Given the description of an element on the screen output the (x, y) to click on. 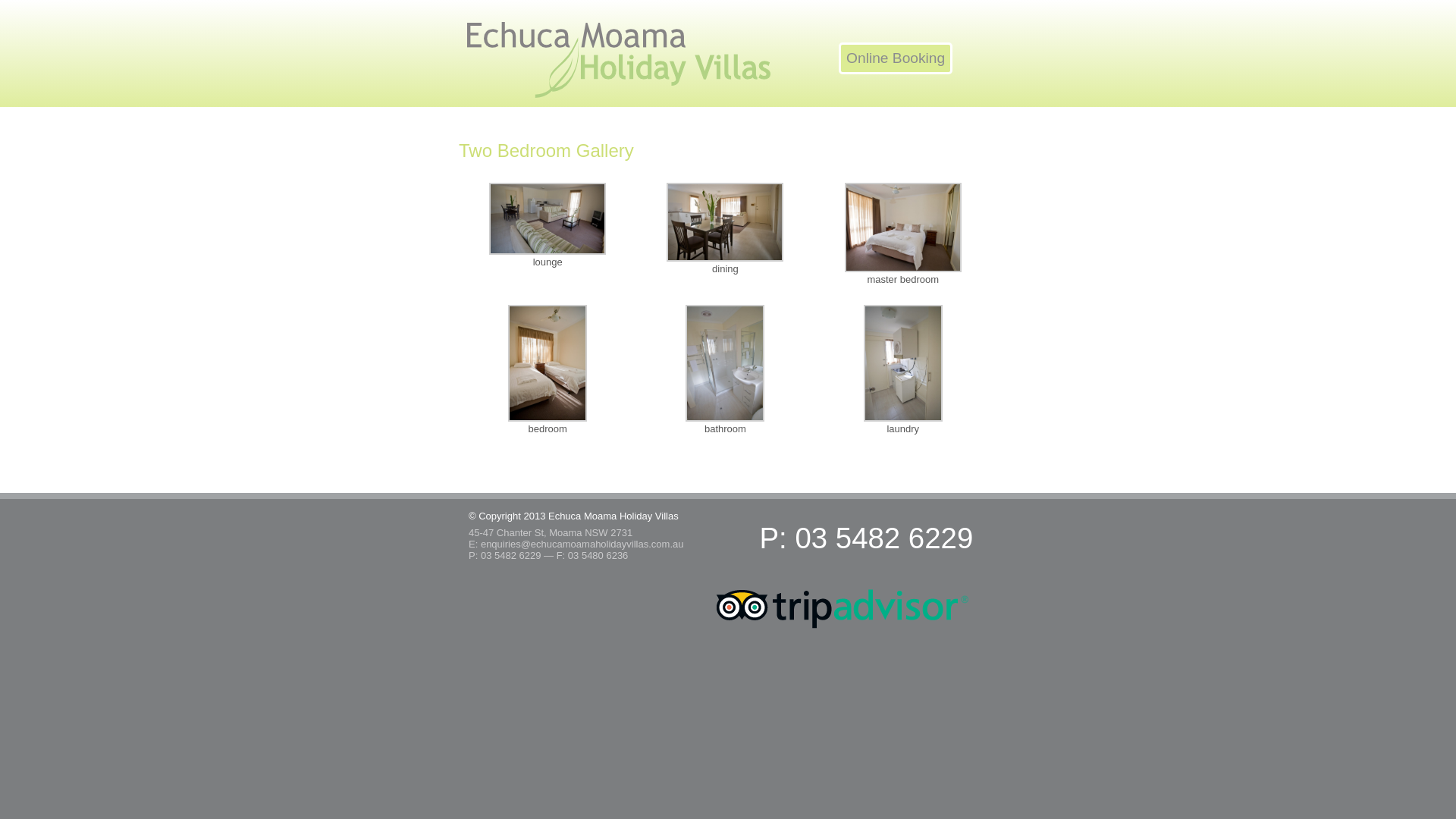
enquiries@echucamoamaholidayvillas.com.au Element type: text (582, 543)
Echuca Moama Holiday Villas Element type: hover (618, 58)
Online Booking Element type: text (895, 58)
